Given the description of an element on the screen output the (x, y) to click on. 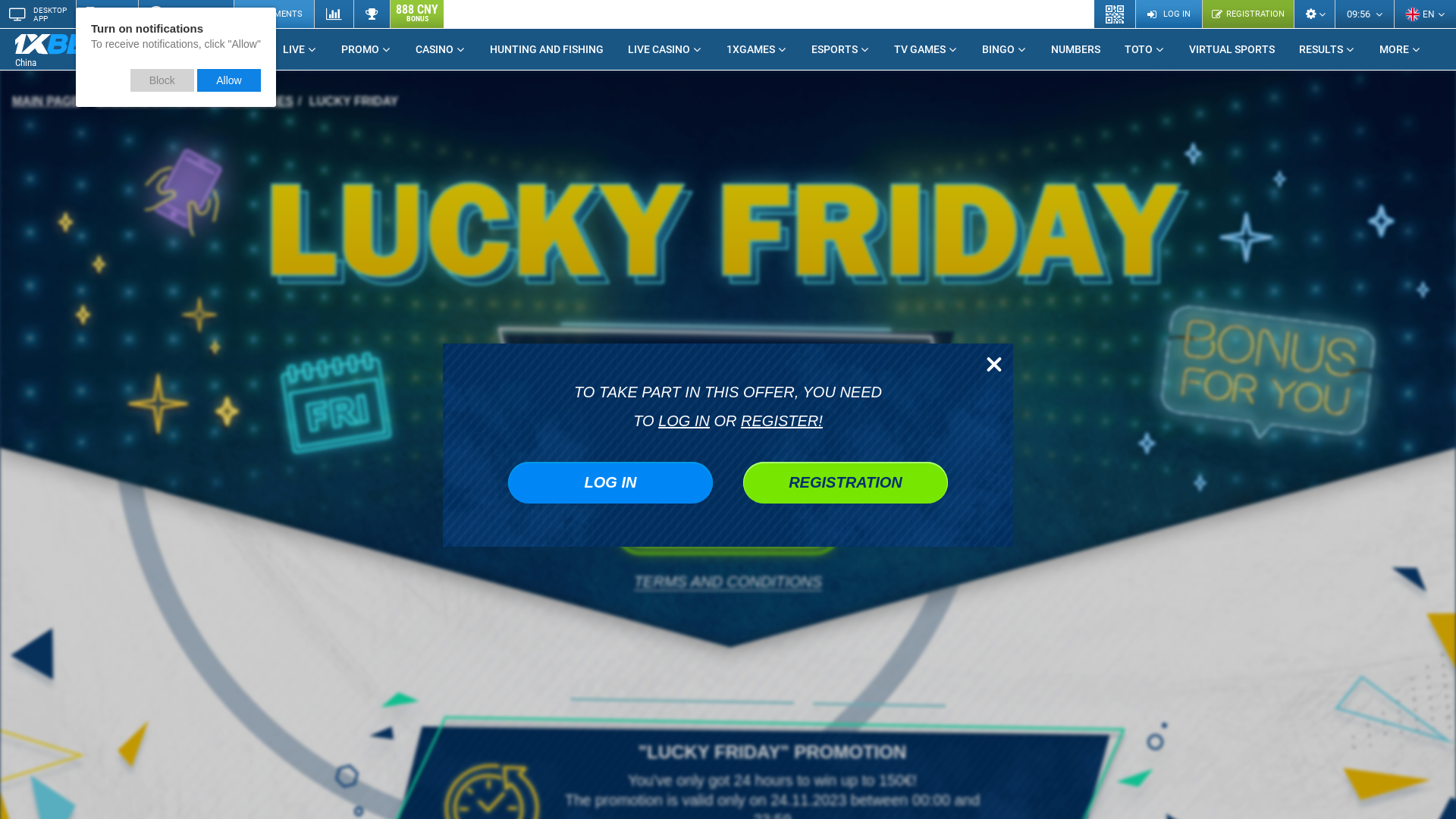
BINGO Element type: text (1003, 48)
RESULTS Element type: text (1326, 48)
MORE Element type: text (1400, 48)
China Element type: text (71, 49)
TOTO Element type: text (1144, 48)
PAYMENTS Element type: text (273, 14)
QR code login Element type: hover (1114, 14)
1XGAMES Element type: text (756, 48)
Results Element type: hover (371, 14)
REGISTRATION Element type: text (1247, 14)
ESPORTS Element type: text (840, 48)
MOBILE
APP Element type: text (106, 14)
1xBet Betting Company Element type: hover (60, 43)
Statistics Element type: hover (333, 14)
NUMBERS Element type: text (1075, 48)
TV GAMES Element type: text (925, 48)
Allow Element type: text (228, 80)
Settings Element type: hover (1313, 14)
HUNTING AND FISHING Element type: text (546, 48)
PROMO Element type: text (366, 48)
Block Element type: text (162, 80)
NEW Element type: text (124, 42)
SPORTS Element type: text (232, 48)
LIVE CASINO Element type: text (664, 48)
BETS
VIA TELEGRAM Element type: text (185, 14)
888 CNY
BONUS Element type: text (416, 14)
DESKTOP
APP Element type: text (37, 14)
CASINO Element type: text (440, 48)
LIVE Element type: text (299, 48)
VIRTUAL SPORTS Element type: text (1231, 48)
